Given the description of an element on the screen output the (x, y) to click on. 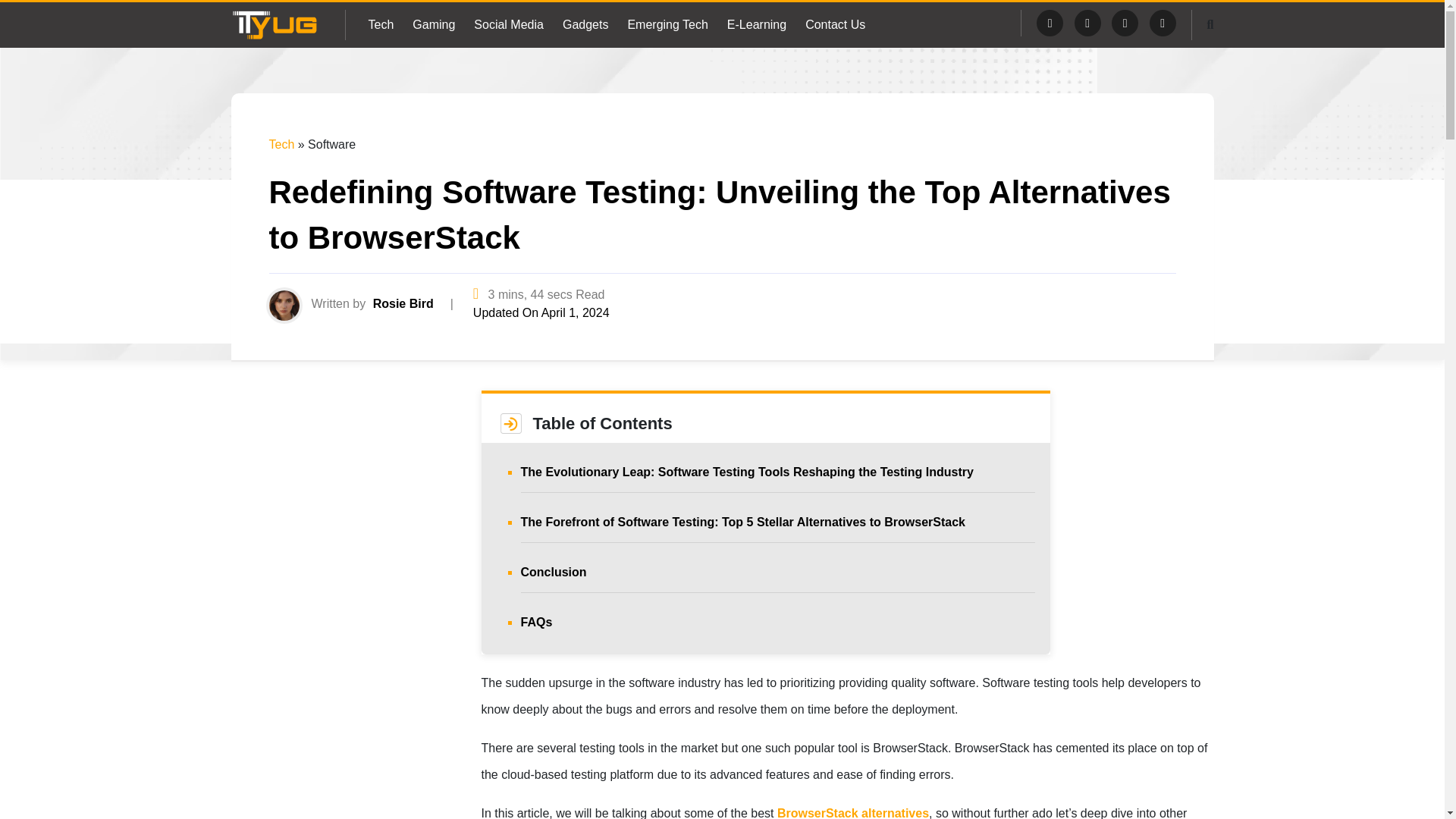
Tech (280, 144)
FAQs (535, 621)
Social Media (508, 24)
Rosie Bird (402, 303)
Gaming (433, 24)
Emerging Tech (667, 24)
Table of Contents (601, 417)
Contact Us (834, 24)
Gadgets (585, 24)
